Given the description of an element on the screen output the (x, y) to click on. 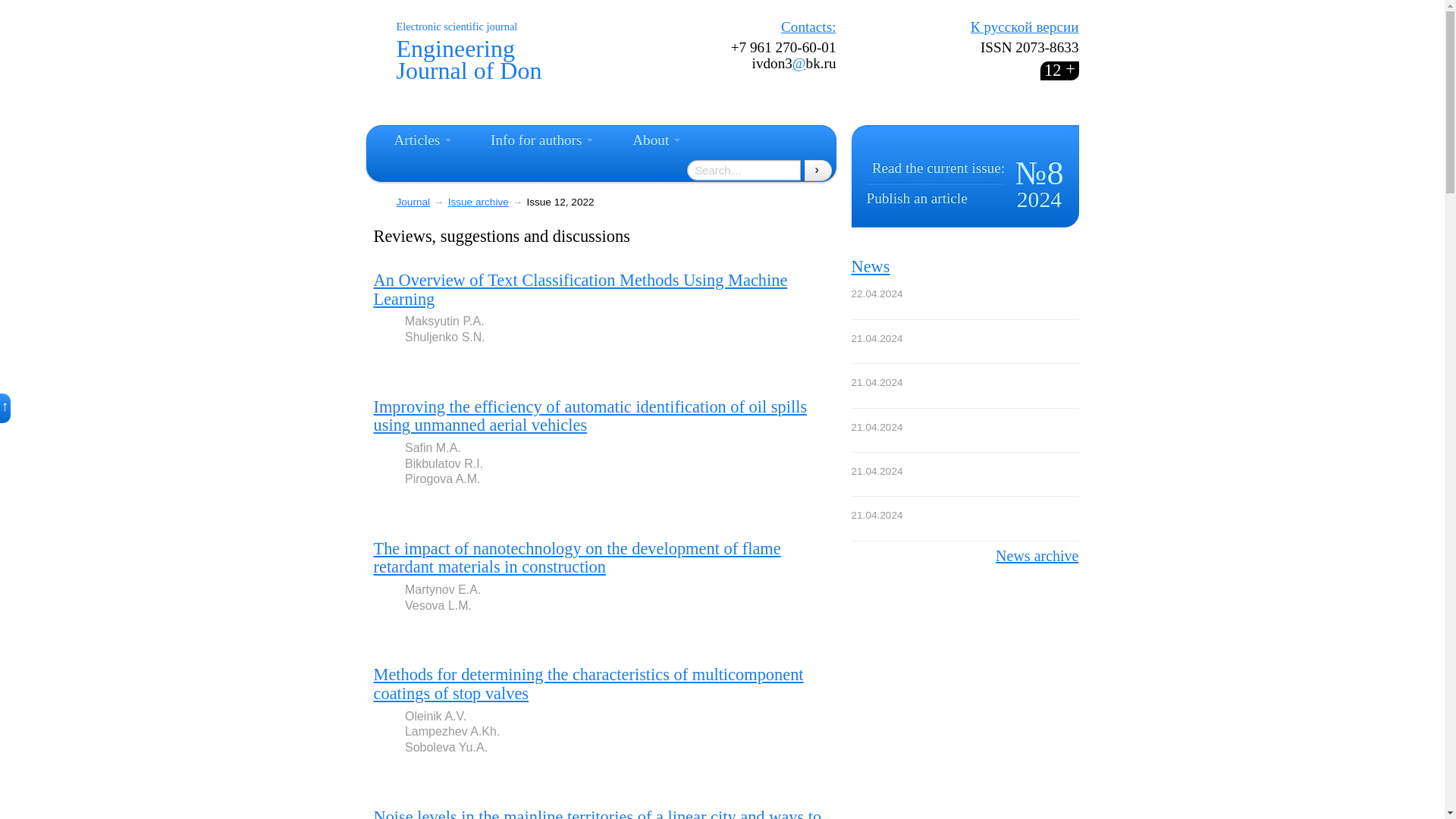
Contacts: (807, 26)
Bikbulatov R.I. (443, 463)
Maksyutin P.A. (444, 320)
Pirogova A.M. (442, 478)
Issue archive (478, 202)
Info for authors (541, 140)
Safin M.A. (432, 447)
Shuljenko S.N. (444, 336)
Articles (423, 140)
